Given the description of an element on the screen output the (x, y) to click on. 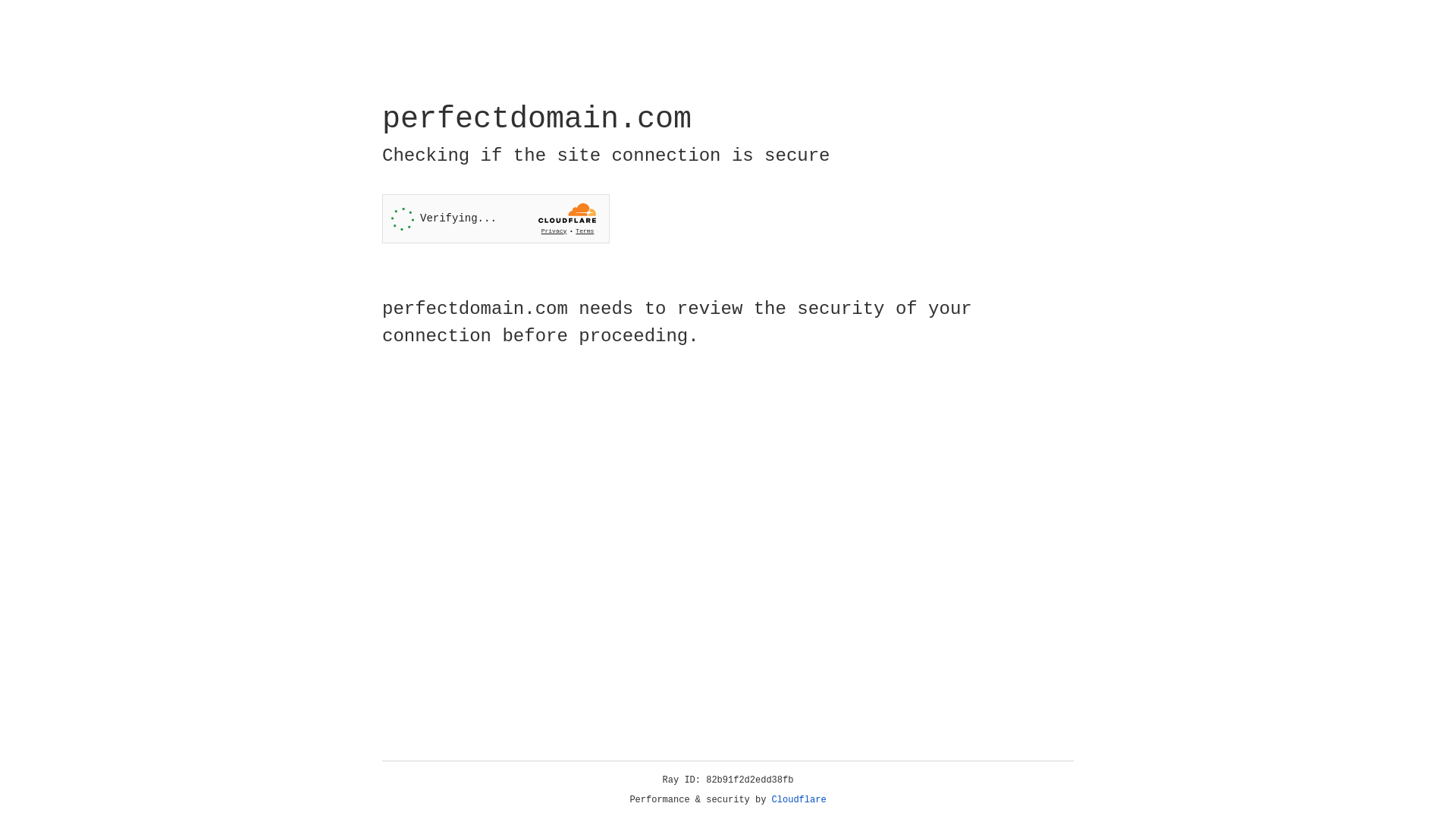
Cloudflare Element type: text (798, 799)
Widget containing a Cloudflare security challenge Element type: hover (495, 218)
